Given the description of an element on the screen output the (x, y) to click on. 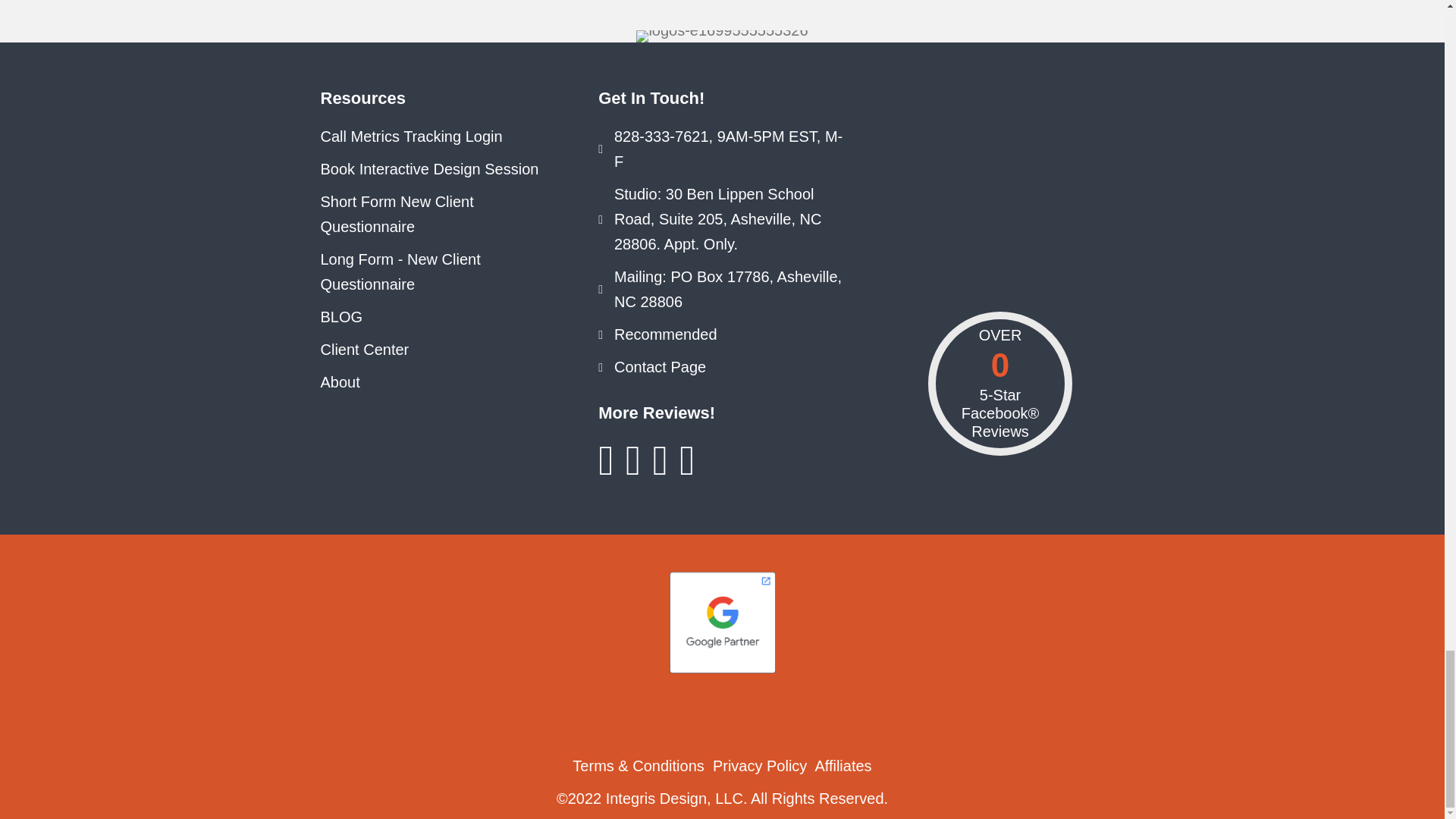
logos-e1699555555326 (722, 36)
